Given the description of an element on the screen output the (x, y) to click on. 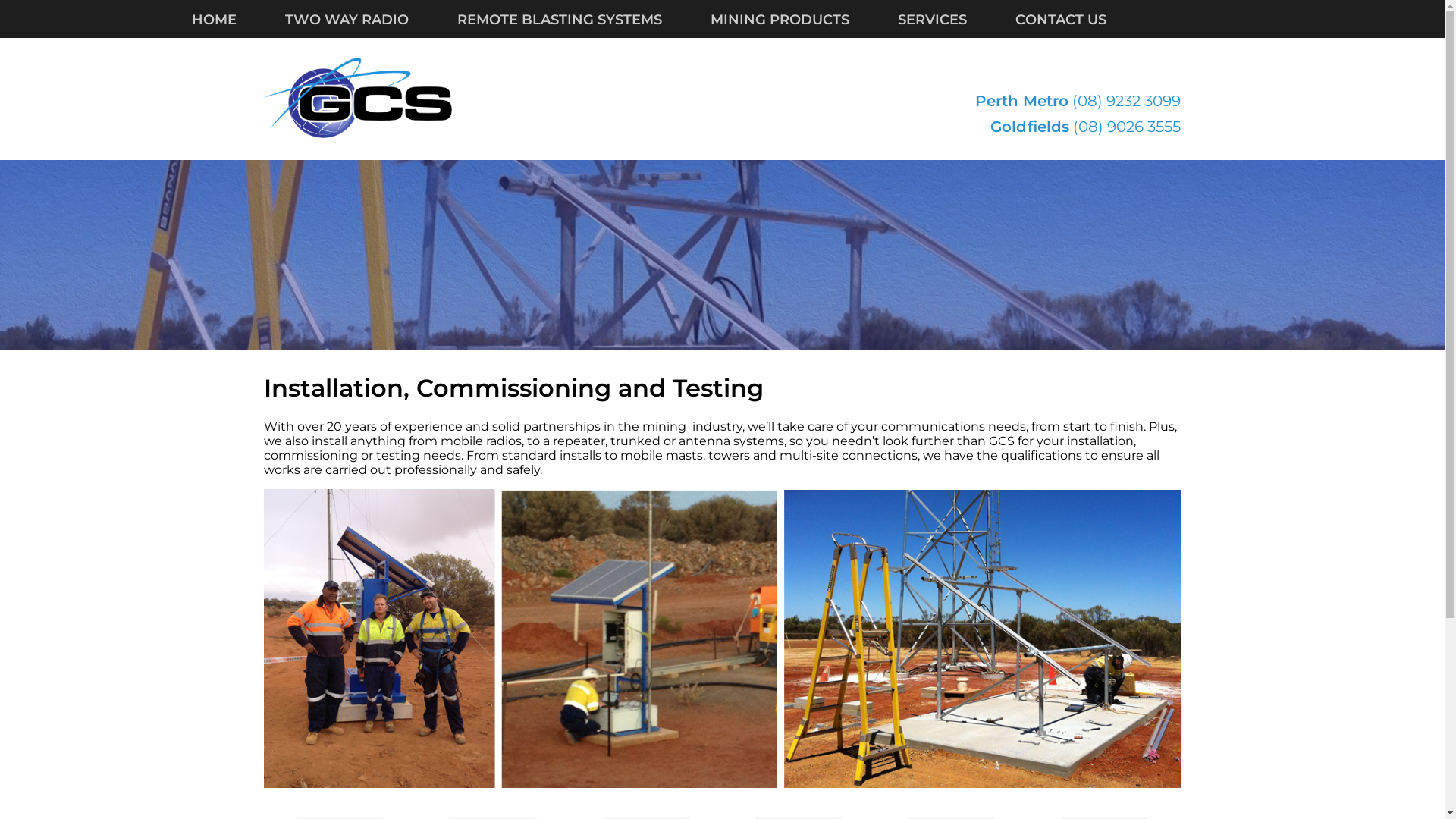
HOME Element type: text (237, 19)
REMOTE BLASTING SYSTEMS Element type: text (582, 19)
TWO WAY RADIO Element type: text (371, 19)
CONTACT US Element type: text (1084, 19)
SERVICES Element type: text (956, 19)
MINING PRODUCTS Element type: text (803, 19)
